Given the description of an element on the screen output the (x, y) to click on. 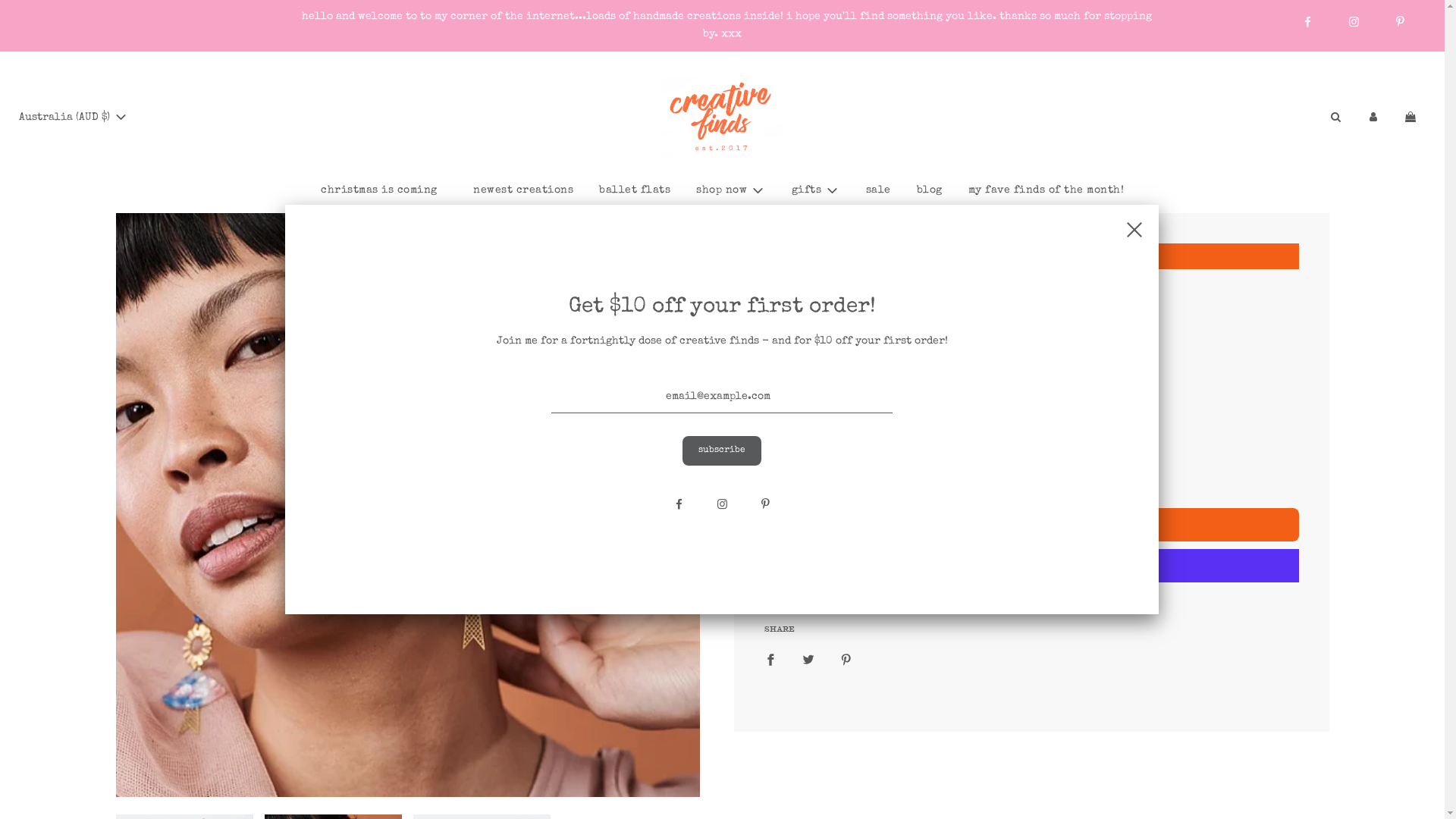
Log in Element type: hover (1373, 117)
More payment options Element type: text (1031, 600)
newest creations Element type: text (522, 190)
sale Element type: text (877, 190)
my fave finds of the month! Element type: text (1046, 190)
Blue Element type: text (951, 414)
gifts Element type: text (814, 190)
loading...
add to cart Element type: text (1031, 524)
Australia (AUD $) Element type: text (73, 117)
blog Element type: text (929, 190)
Subscribe Element type: text (721, 450)
shop now Element type: text (730, 190)
ballet flats Element type: text (634, 190)
